Given the description of an element on the screen output the (x, y) to click on. 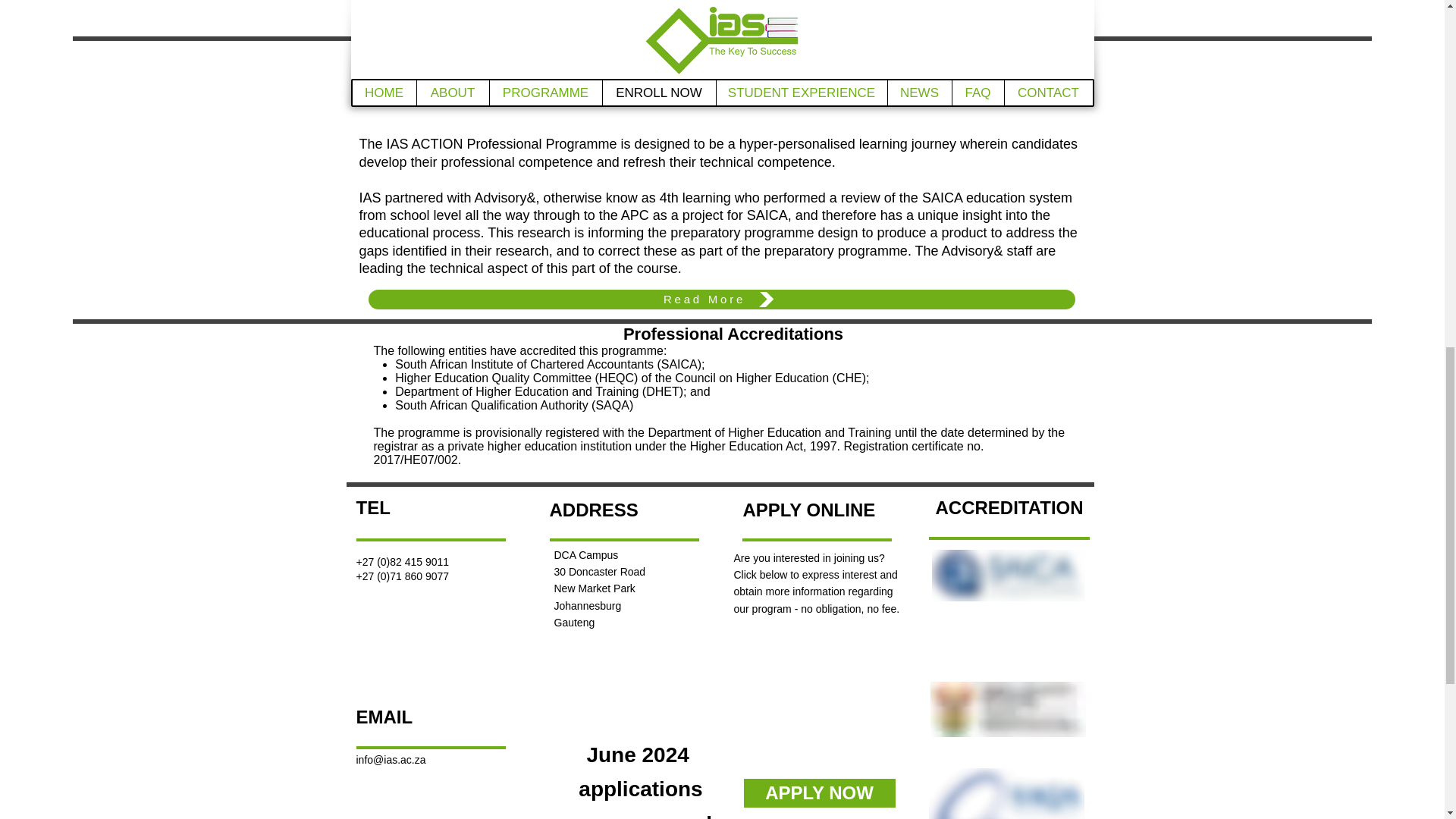
SAICA logo.png (1007, 575)
Read More (721, 8)
Read More (721, 299)
APPLY NOW (970, 82)
APPLY NOW (818, 792)
